Given the description of an element on the screen output the (x, y) to click on. 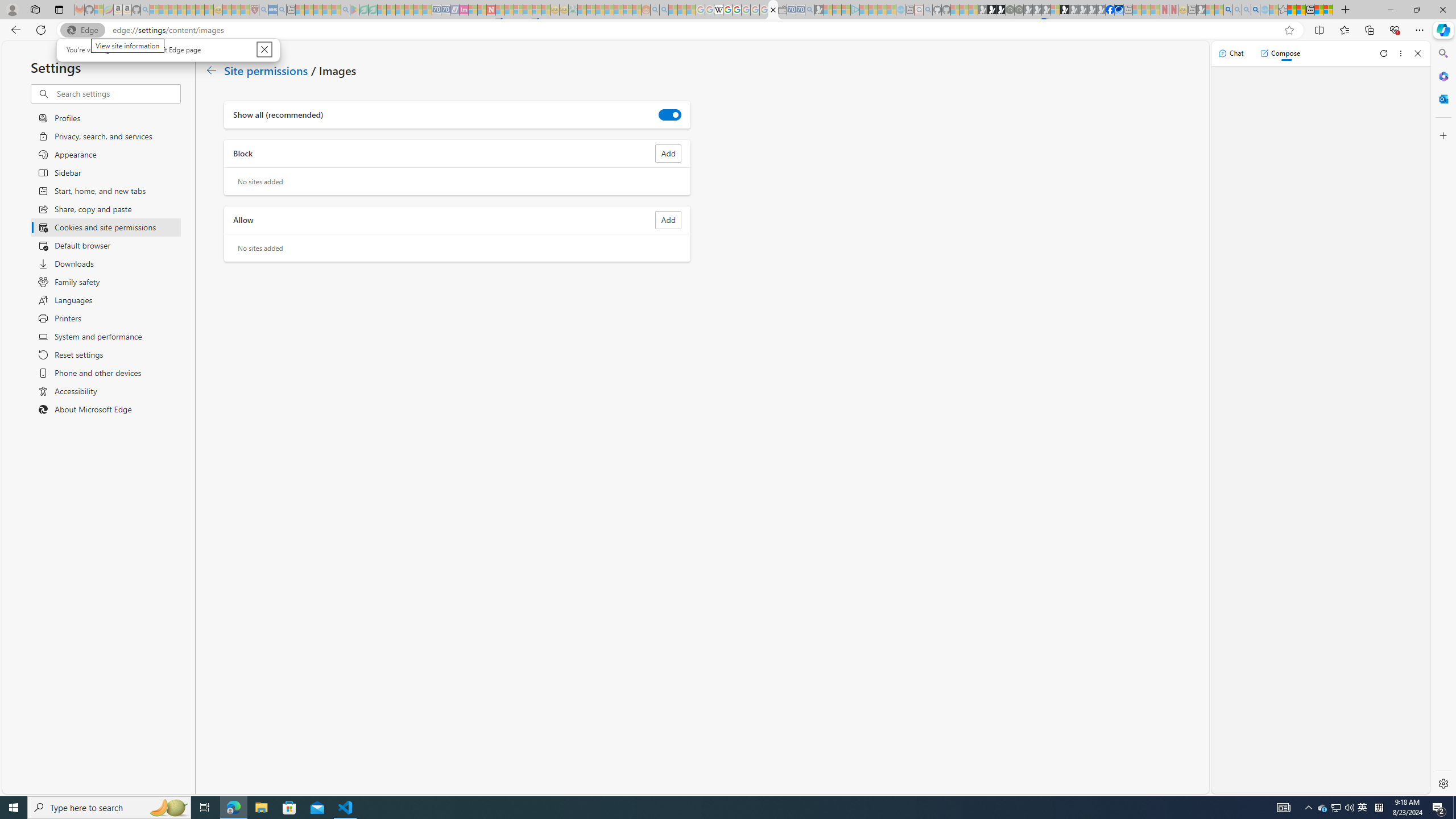
Search highlights icon opens search home window (167, 807)
Running applications (700, 807)
